Given the description of an element on the screen output the (x, y) to click on. 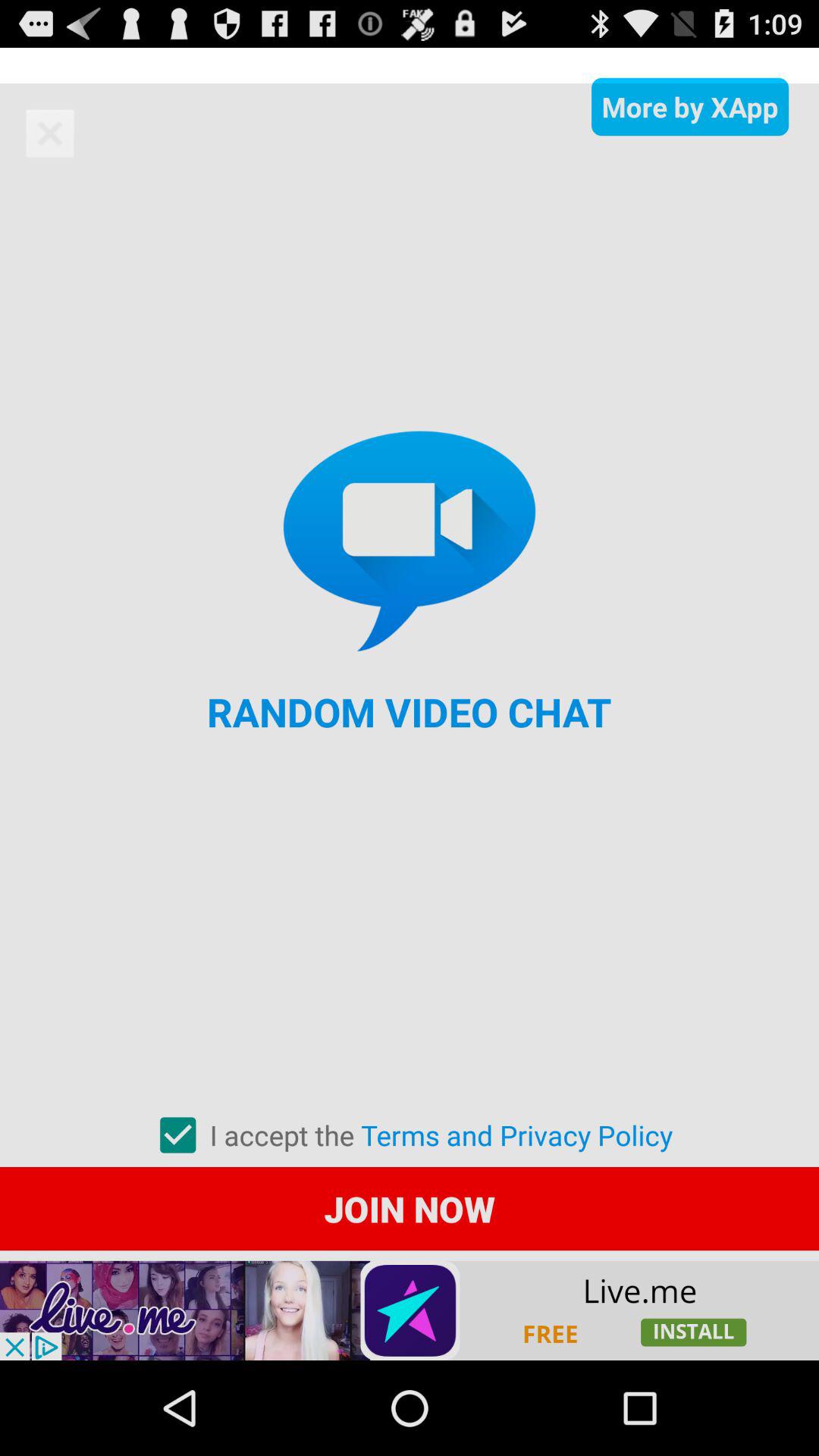
accept terms (177, 1135)
